Given the description of an element on the screen output the (x, y) to click on. 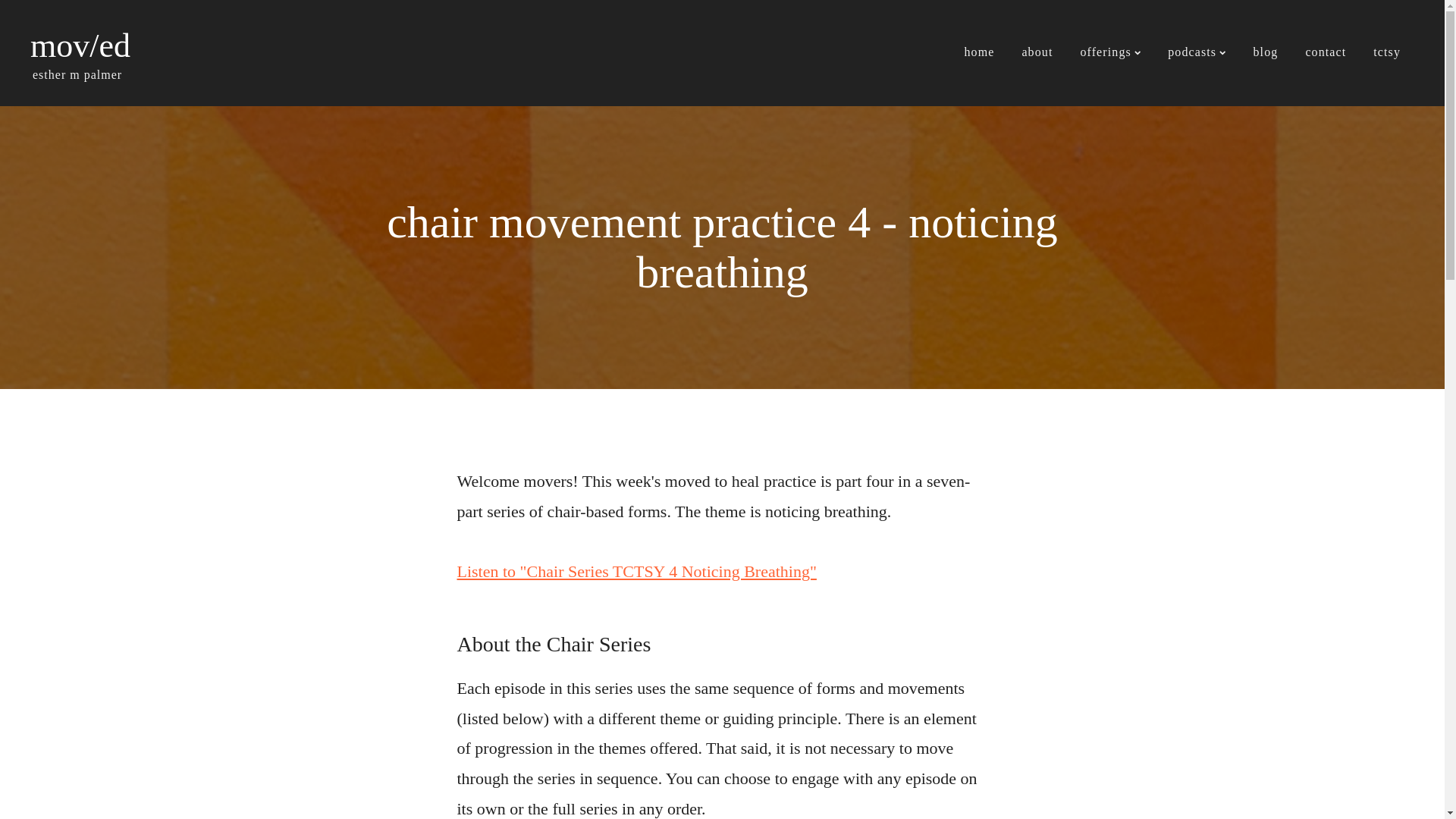
Listen to "Chair Series TCTSY 4 Noticing Breathing" (636, 570)
about (1036, 53)
contact (1325, 53)
blog (1266, 53)
offerings (1109, 53)
home (978, 53)
tctsy (1386, 53)
podcasts (1196, 53)
